Given the description of an element on the screen output the (x, y) to click on. 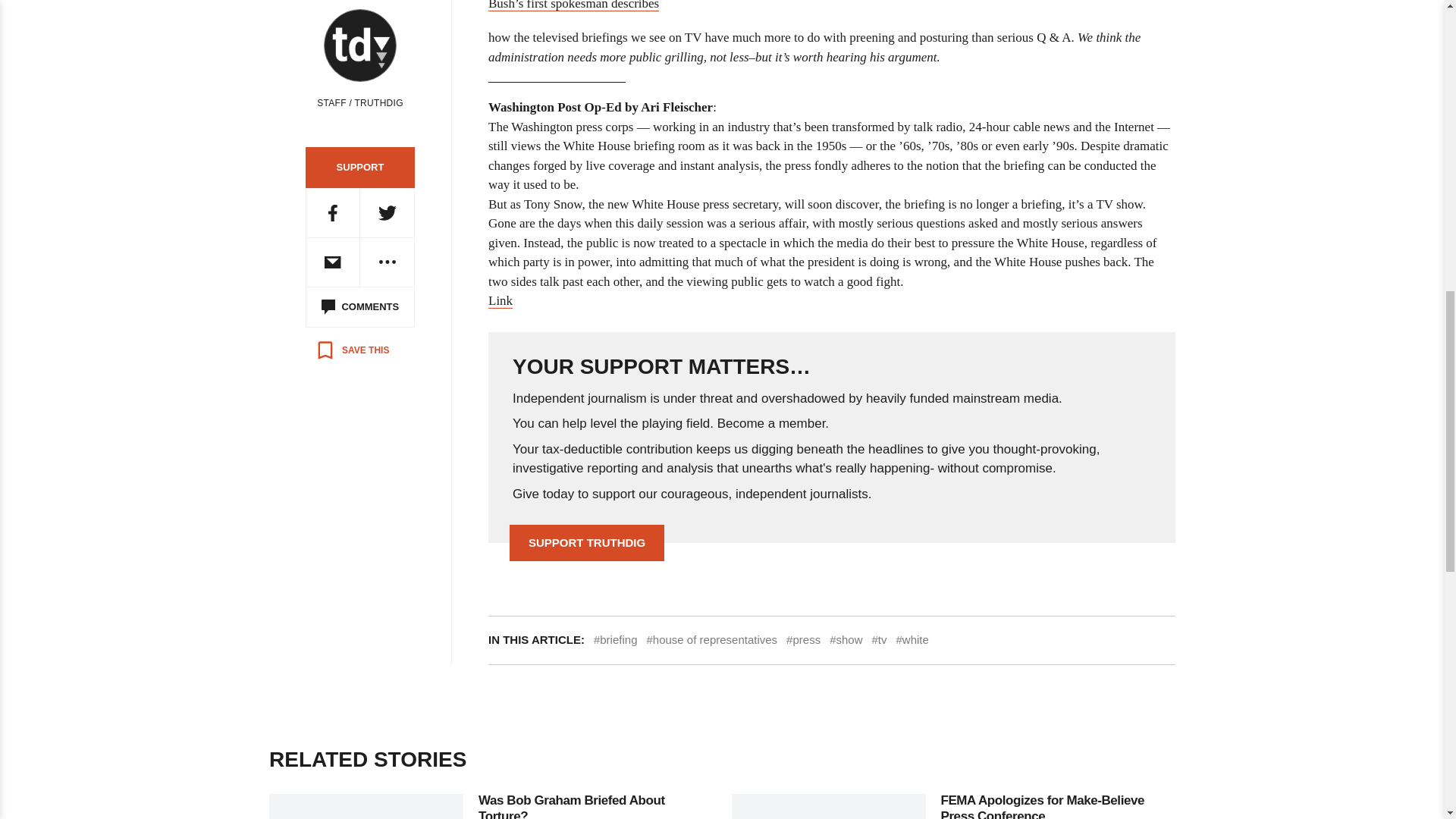
Bush's first spokesman describes (573, 5)
Link  (499, 300)
Save to read later (351, 350)
